Given the description of an element on the screen output the (x, y) to click on. 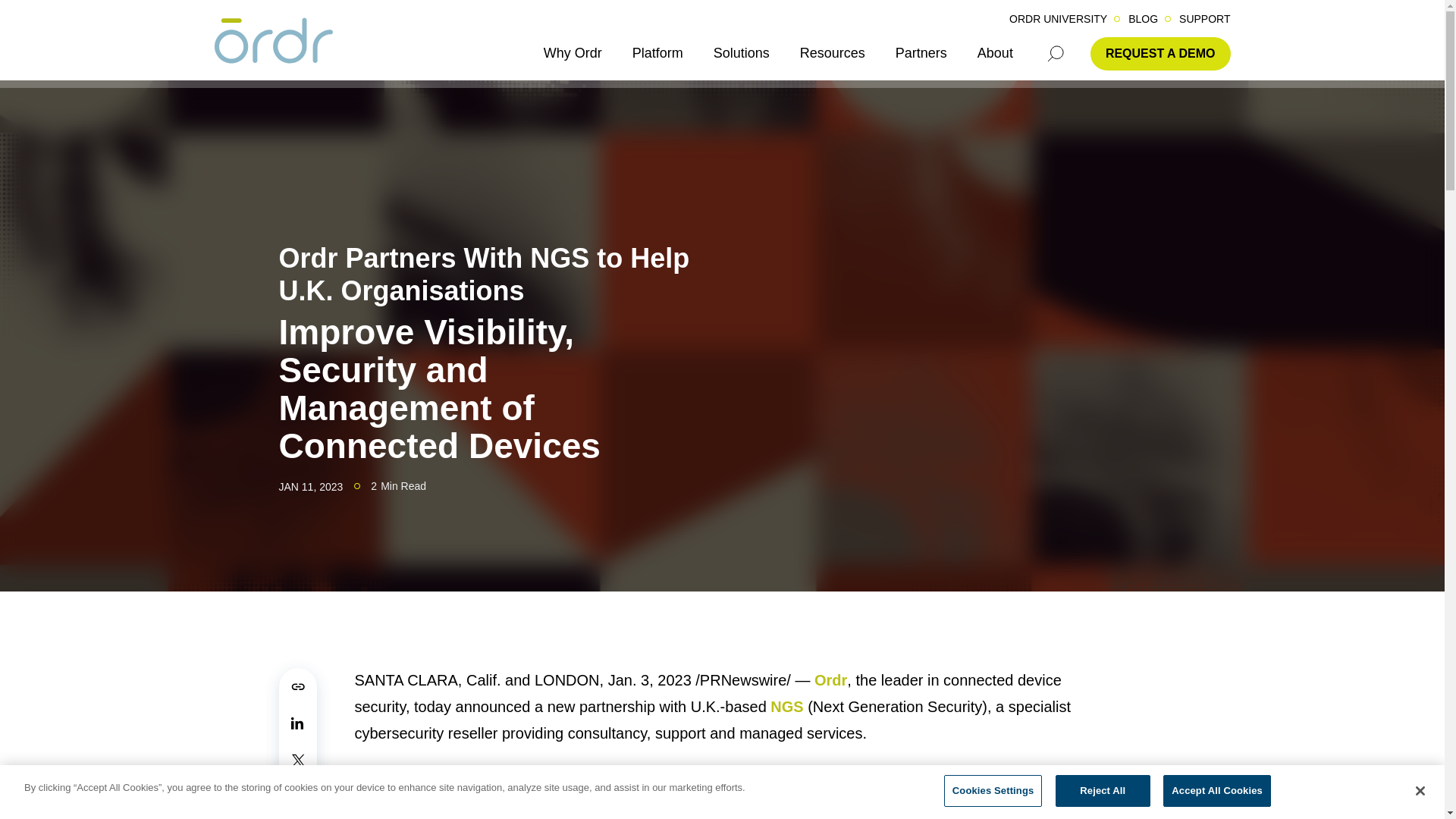
Linkedin (298, 723)
Platform (657, 53)
Resources (832, 53)
ORDR UNIVERSITY (1057, 19)
Solutions (741, 53)
Facebook (298, 797)
Ordr (272, 41)
Copy Link (298, 686)
X (298, 760)
SUPPORT (1204, 19)
